Given the description of an element on the screen output the (x, y) to click on. 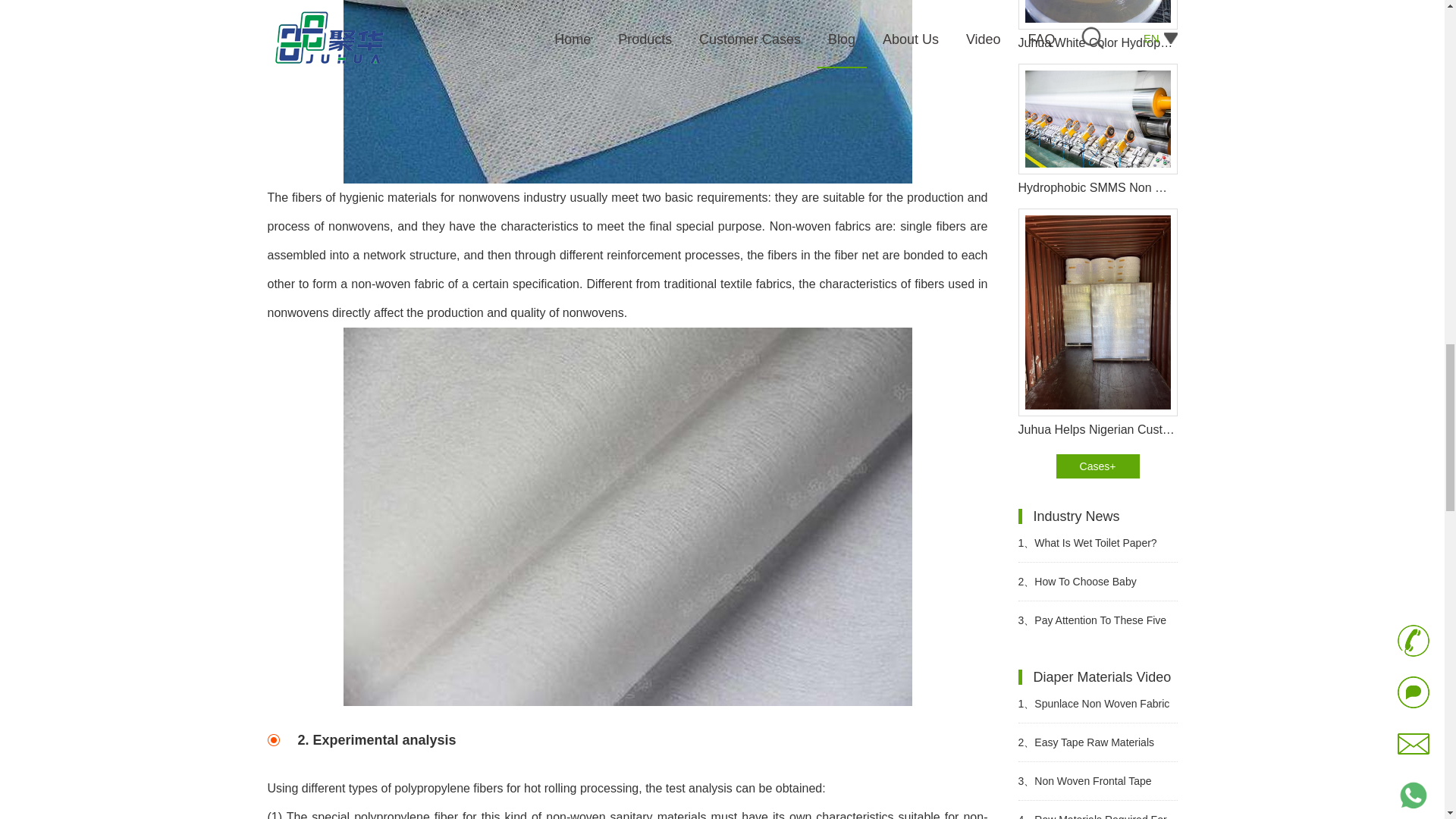
Raw Materials Required For Making Sanitary Pads Video (1096, 809)
Non Woven Frontal Tape Diaper Making Raw Materials Video (1096, 780)
Easy Tape Raw Materials Used In Sanitary Pads Video (1096, 741)
thermal bond nonwoven (626, 91)
Spunlace Non Woven  Fabric For Wet Wipes Video (1096, 703)
